Given the description of an element on the screen output the (x, y) to click on. 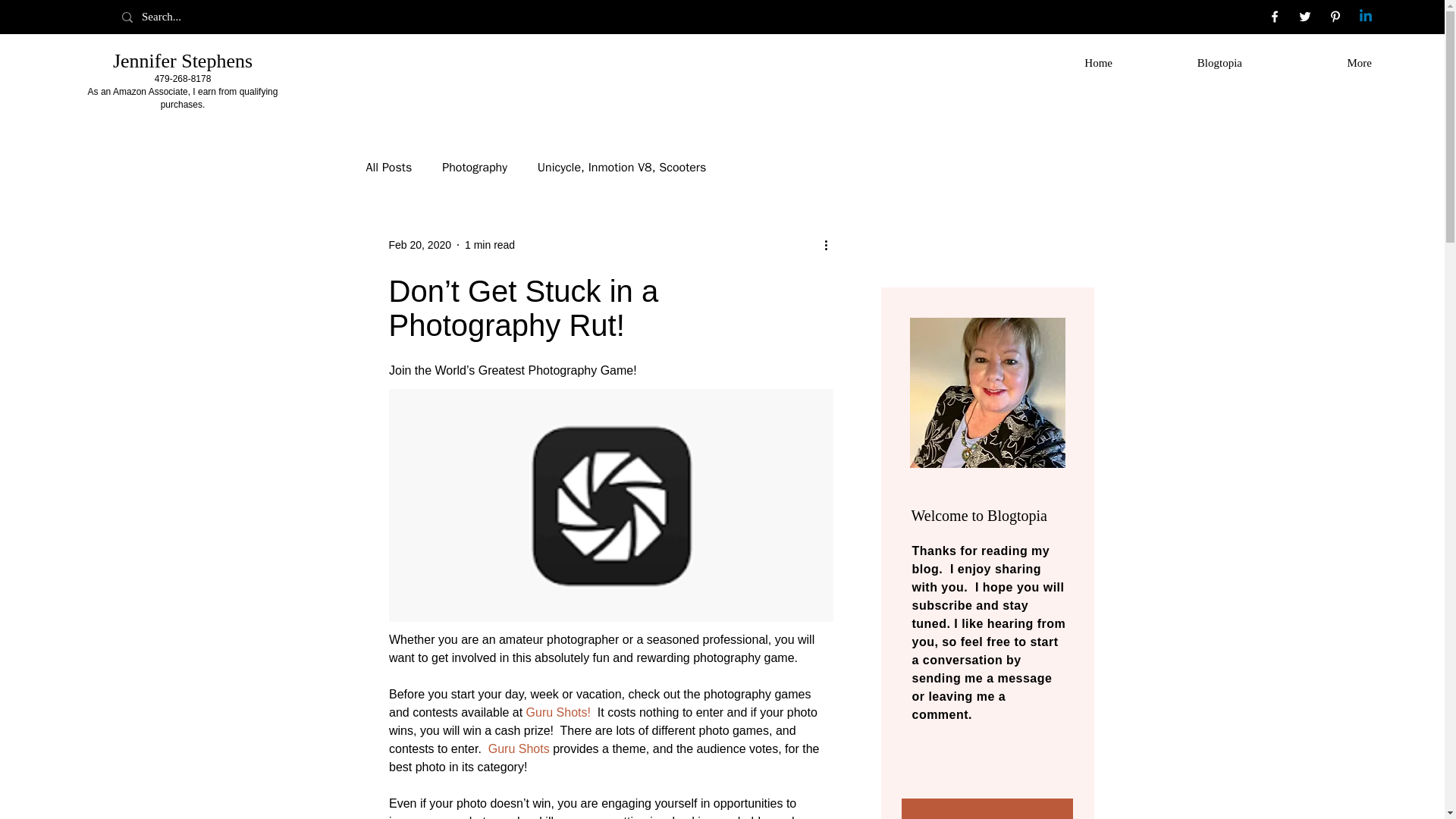
Unicycle, Inmotion V8, Scooters (621, 166)
Feb 20, 2020 (419, 244)
1 min read (489, 244)
Jennifer Stephens (182, 60)
Home (1059, 62)
All Posts (388, 166)
Blogtopia (1188, 62)
Photography (474, 166)
